Given the description of an element on the screen output the (x, y) to click on. 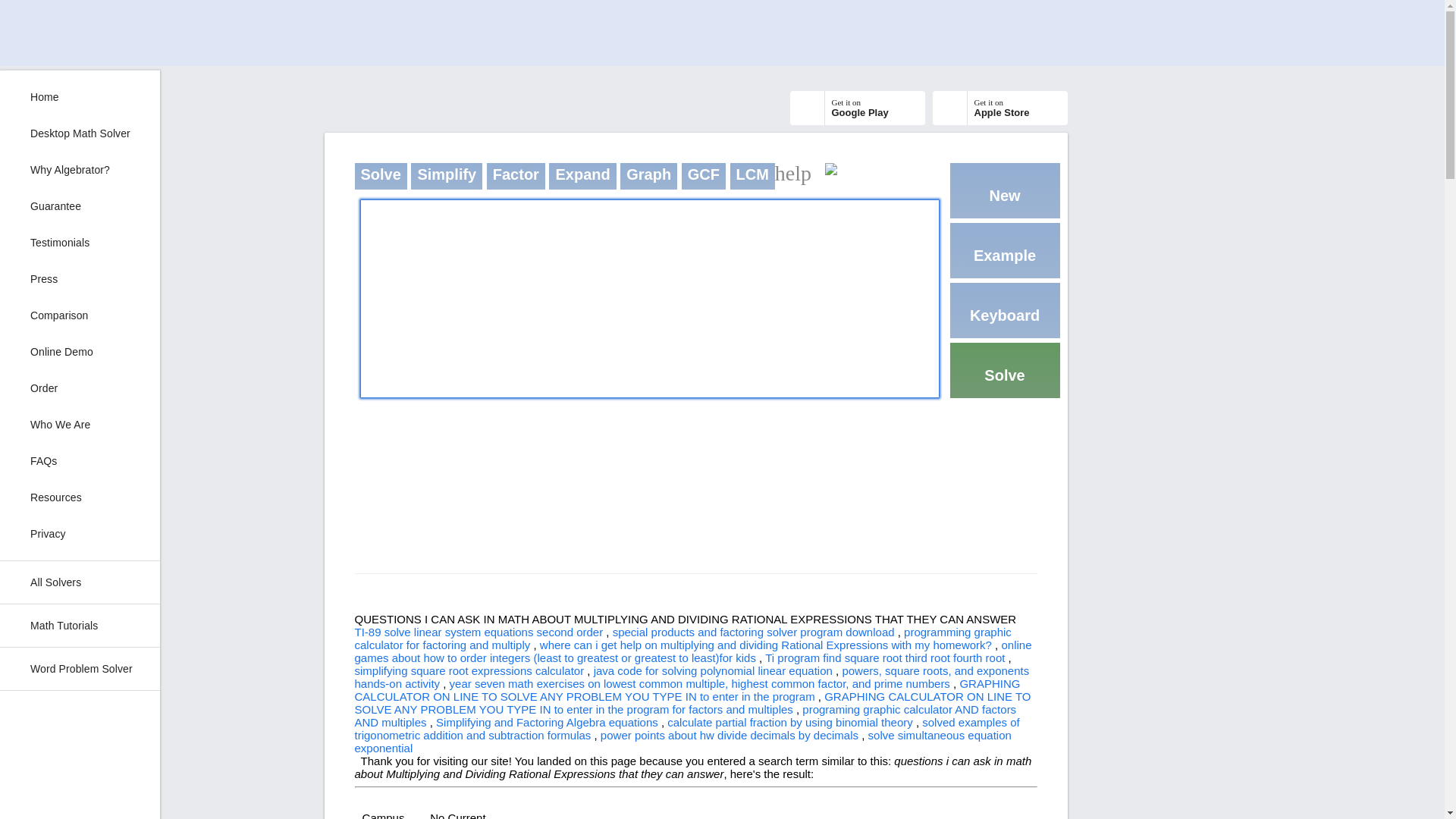
Word Problem Solver (80, 668)
Example (1004, 250)
Why Algebrator? (80, 169)
Math Tutorials (80, 625)
Guarantee (80, 206)
Factor (515, 175)
Privacy (80, 533)
Graph (857, 107)
Resources (648, 175)
All Solvers (80, 497)
GCF (80, 582)
Testimonials (703, 175)
Who We Are (80, 242)
Desktop Math Solver (80, 424)
